Given the description of an element on the screen output the (x, y) to click on. 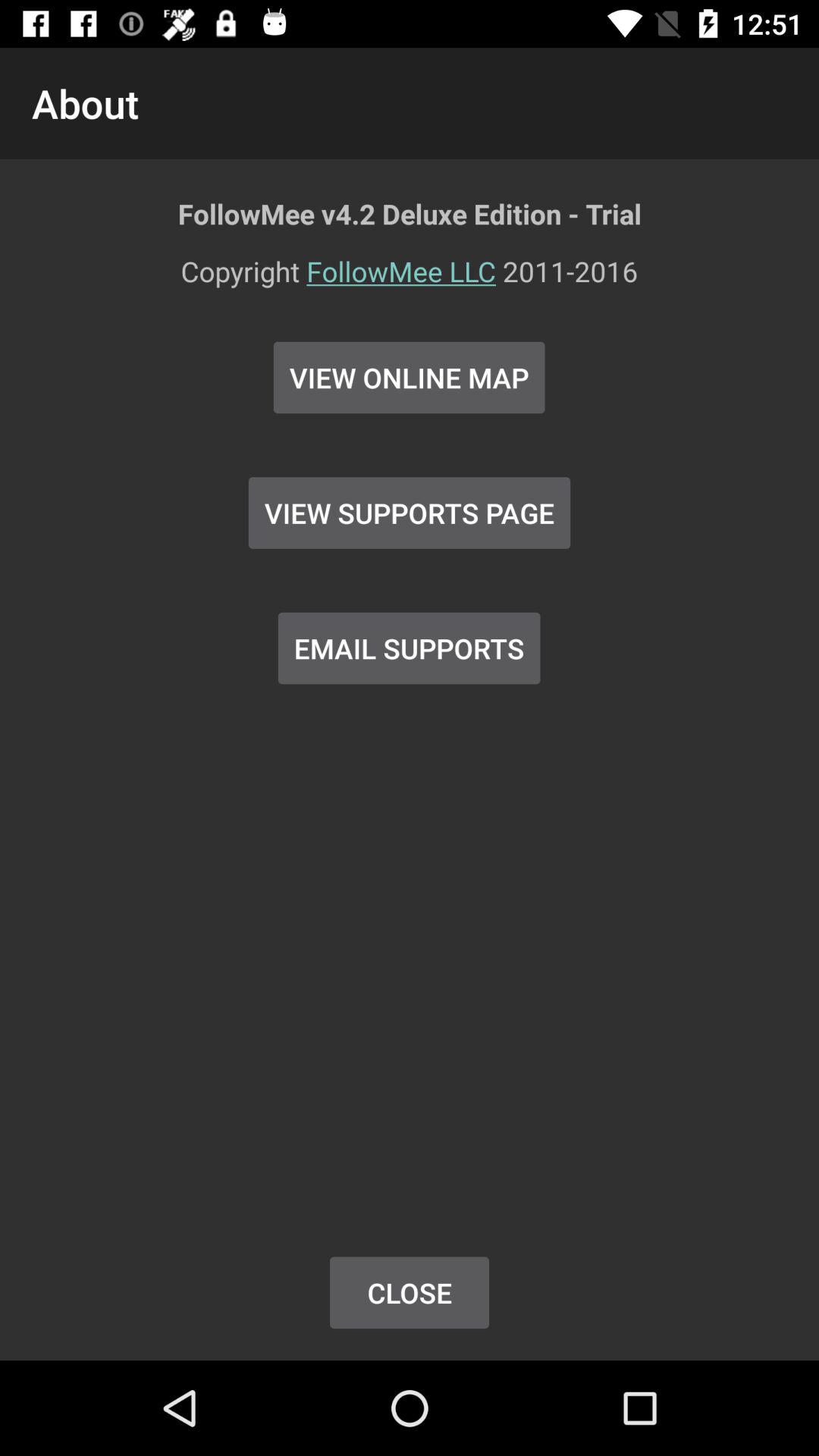
select item below the view online map item (409, 512)
